Given the description of an element on the screen output the (x, y) to click on. 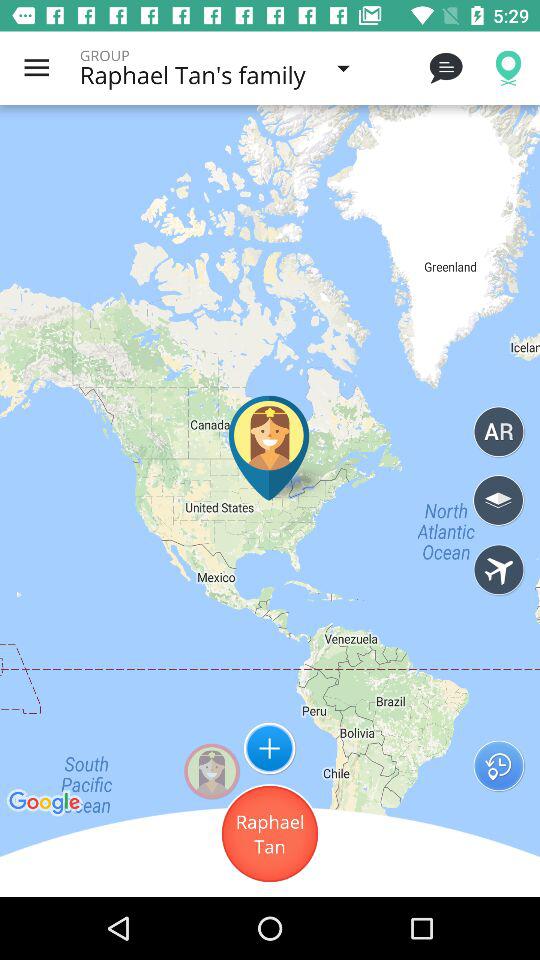
turn on the icon to the left of the group icon (36, 68)
